Given the description of an element on the screen output the (x, y) to click on. 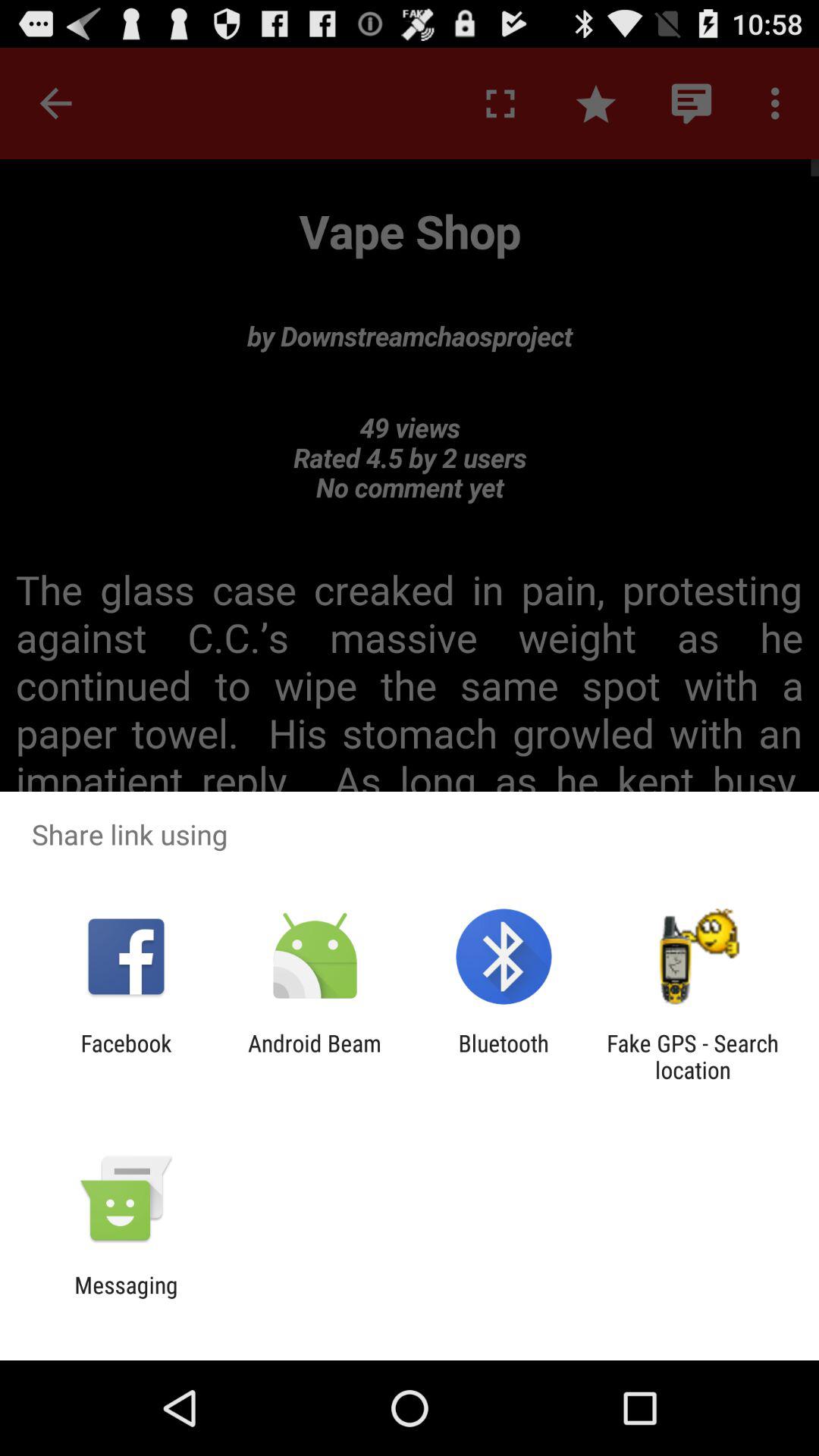
press icon to the right of the bluetooth app (692, 1056)
